Given the description of an element on the screen output the (x, y) to click on. 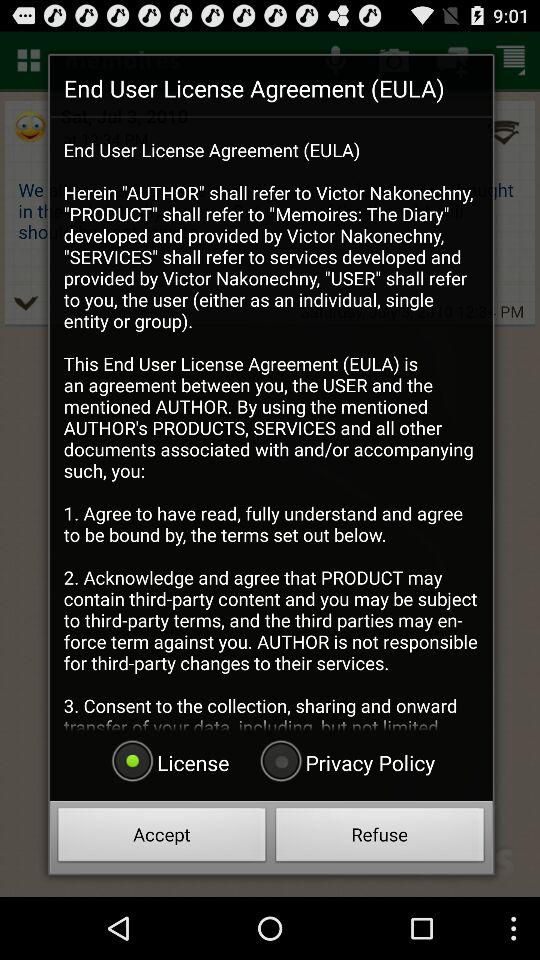
launch the radio button below the privacy policy radio button (380, 837)
